Given the description of an element on the screen output the (x, y) to click on. 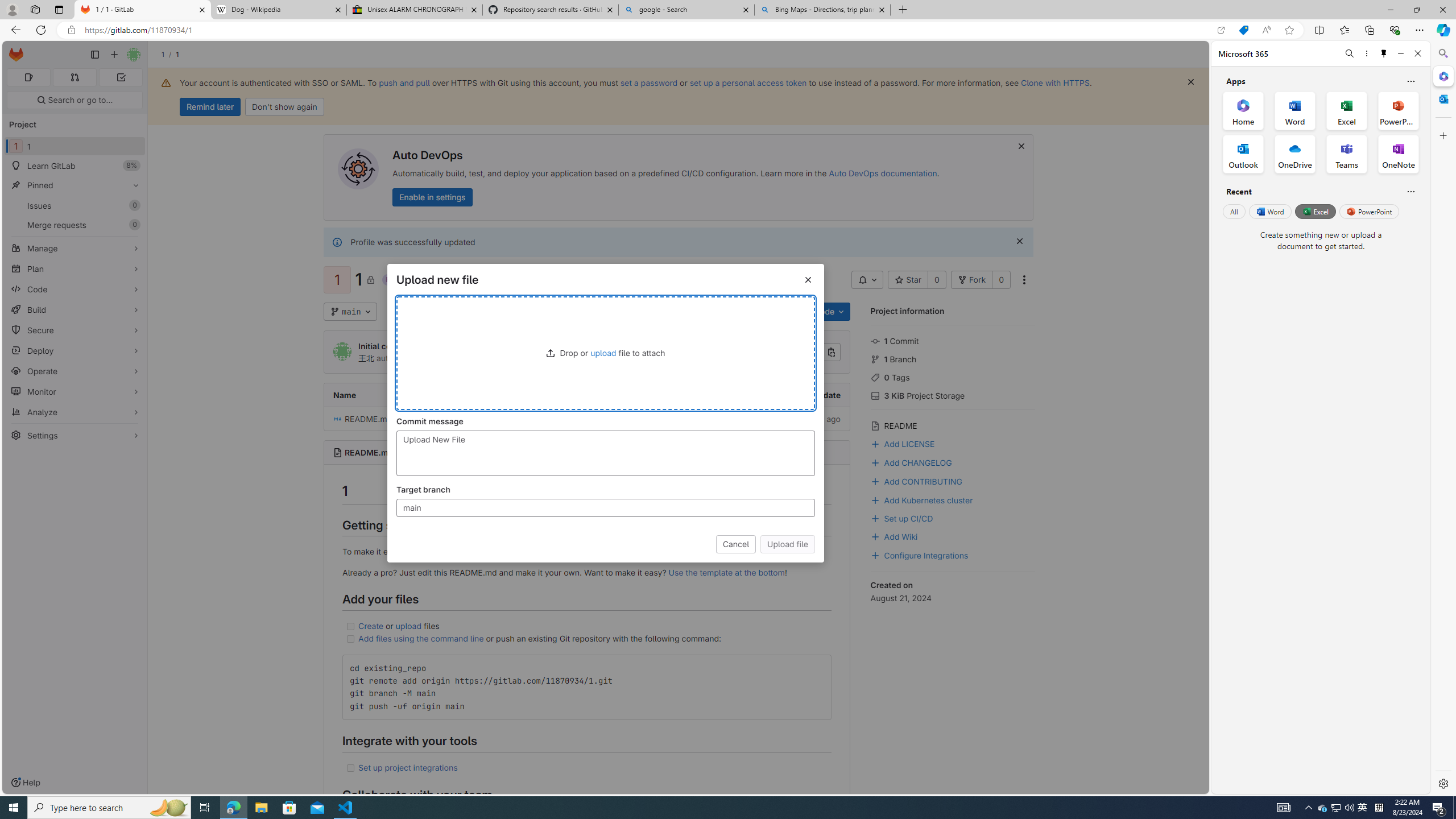
11 (74, 145)
Dismiss (1019, 241)
Primary navigation sidebar (94, 54)
Edit (784, 311)
Set up project integrations (586, 767)
Fork (971, 280)
Use the template at the bottom (726, 572)
Add Kubernetes cluster (952, 498)
Analyze (74, 411)
Word Office App (1295, 110)
Code (74, 289)
